Given the description of an element on the screen output the (x, y) to click on. 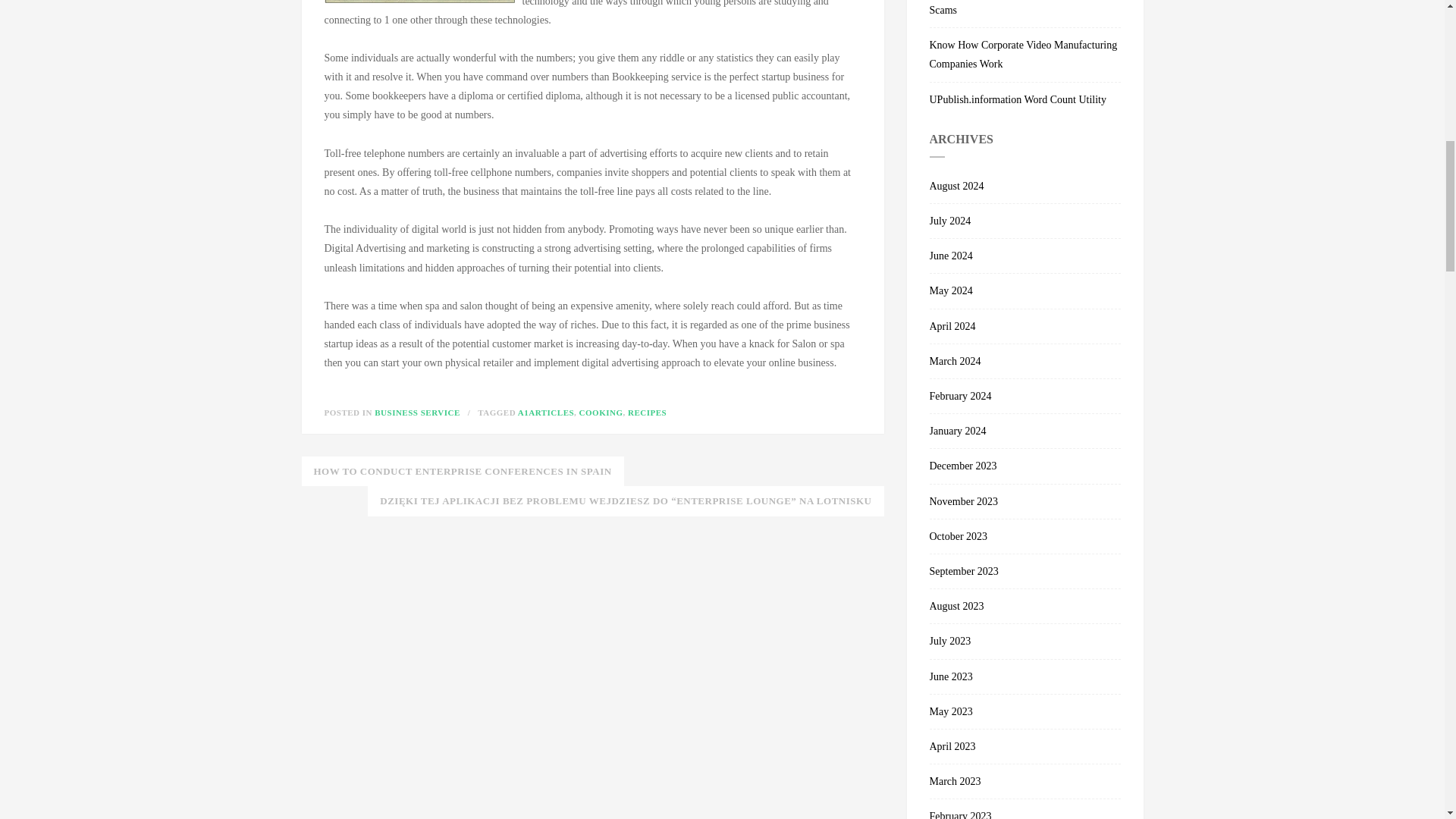
COOKING (601, 411)
BUSINESS SERVICE (417, 411)
March 2024 (1025, 361)
Unveiling the Schemes of Online Casino Scams (1025, 13)
December 2023 (1025, 466)
May 2024 (1025, 290)
A1ARTICLES (545, 411)
May 2023 (1025, 711)
Know How Corporate Video Manufacturing Companies Work (1025, 54)
April 2024 (1025, 326)
